Given the description of an element on the screen output the (x, y) to click on. 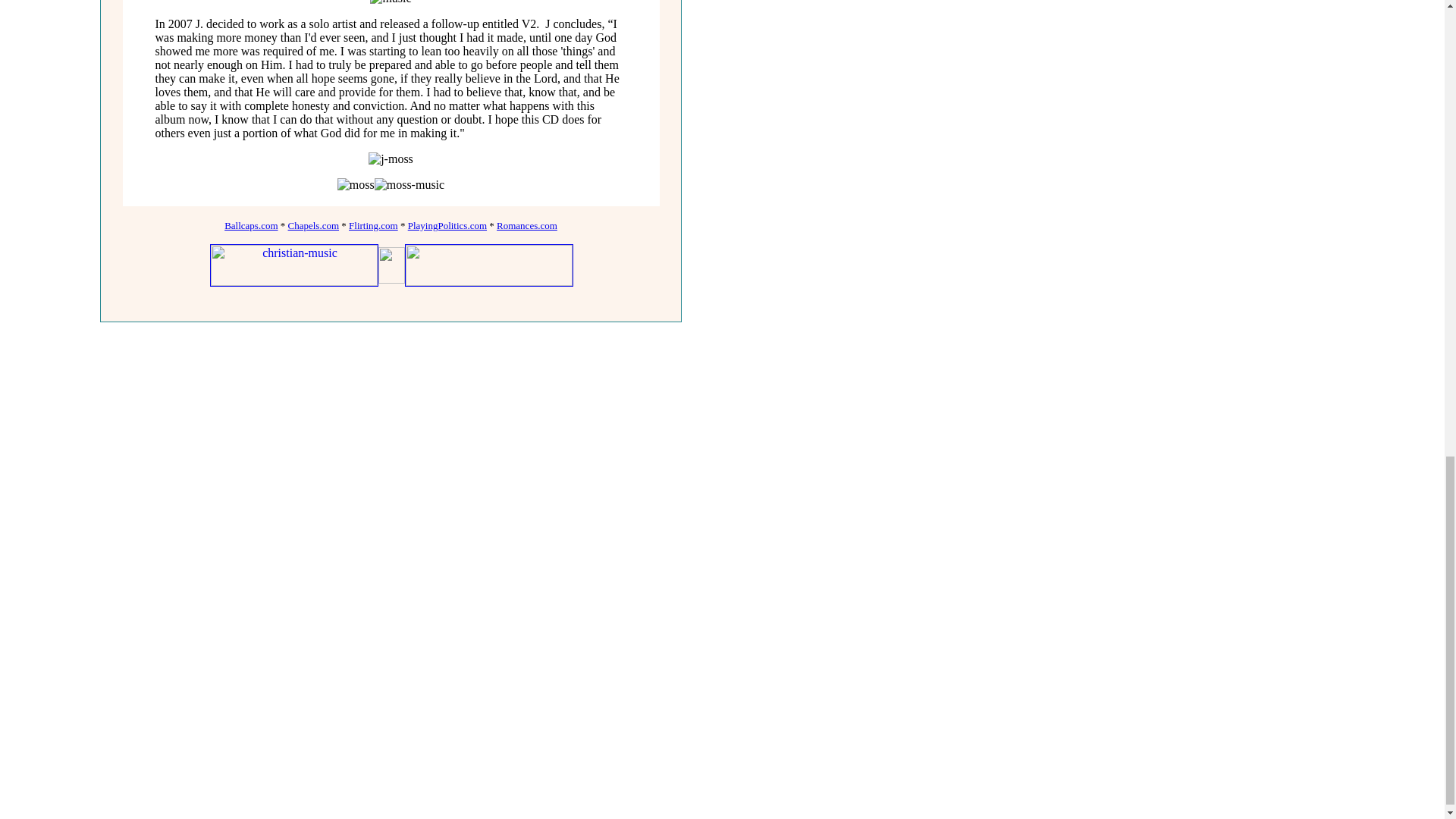
Flirting.com (373, 225)
Romances.com (526, 225)
Chapels.com (313, 225)
PlayingPolitics.com (446, 225)
Ballcaps.com (251, 225)
